Given the description of an element on the screen output the (x, y) to click on. 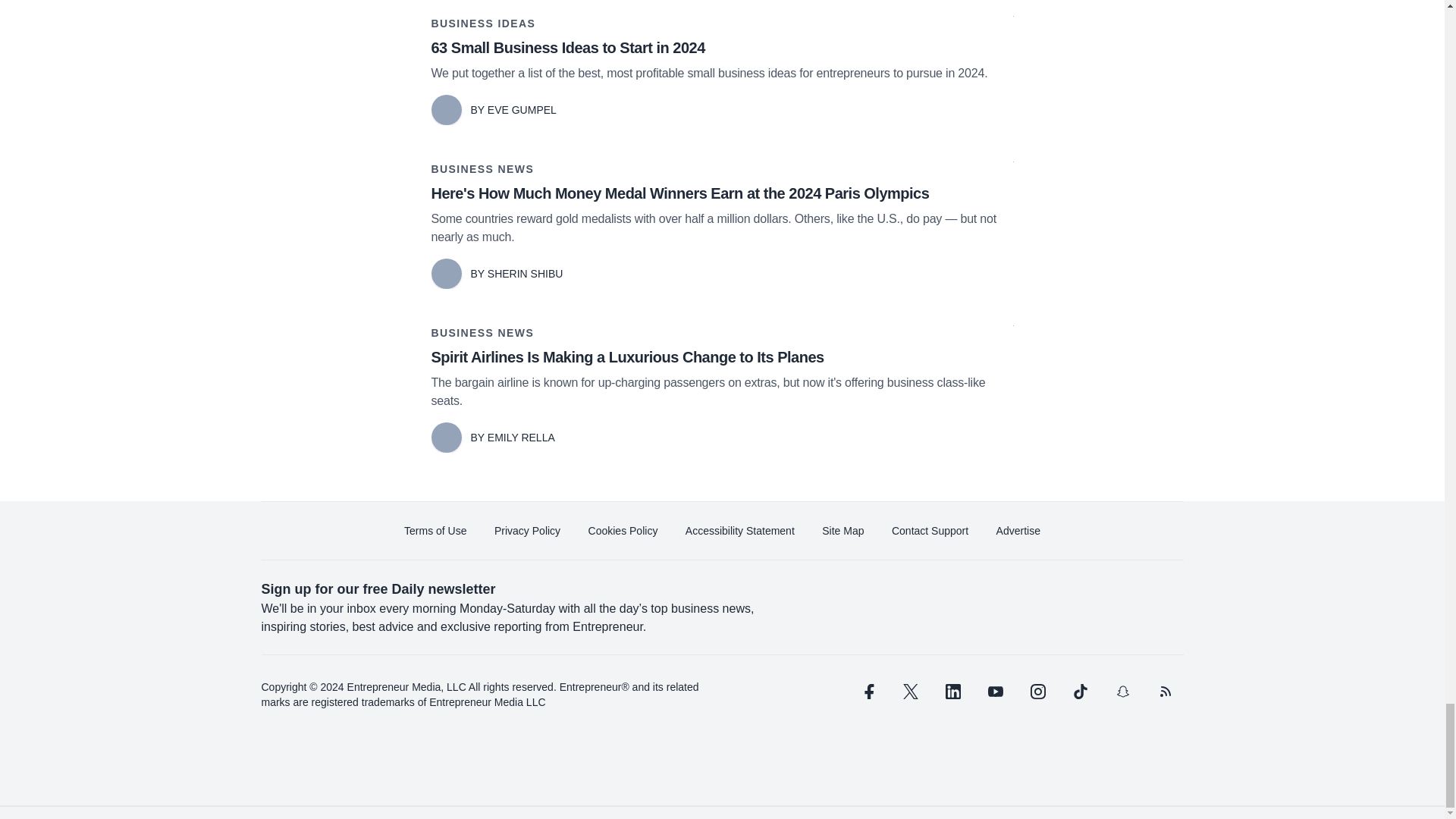
snapchat (1121, 691)
twitter (909, 691)
facebook (866, 691)
tiktok (1079, 691)
linkedin (952, 691)
youtube (994, 691)
instagram (1037, 691)
